Given the description of an element on the screen output the (x, y) to click on. 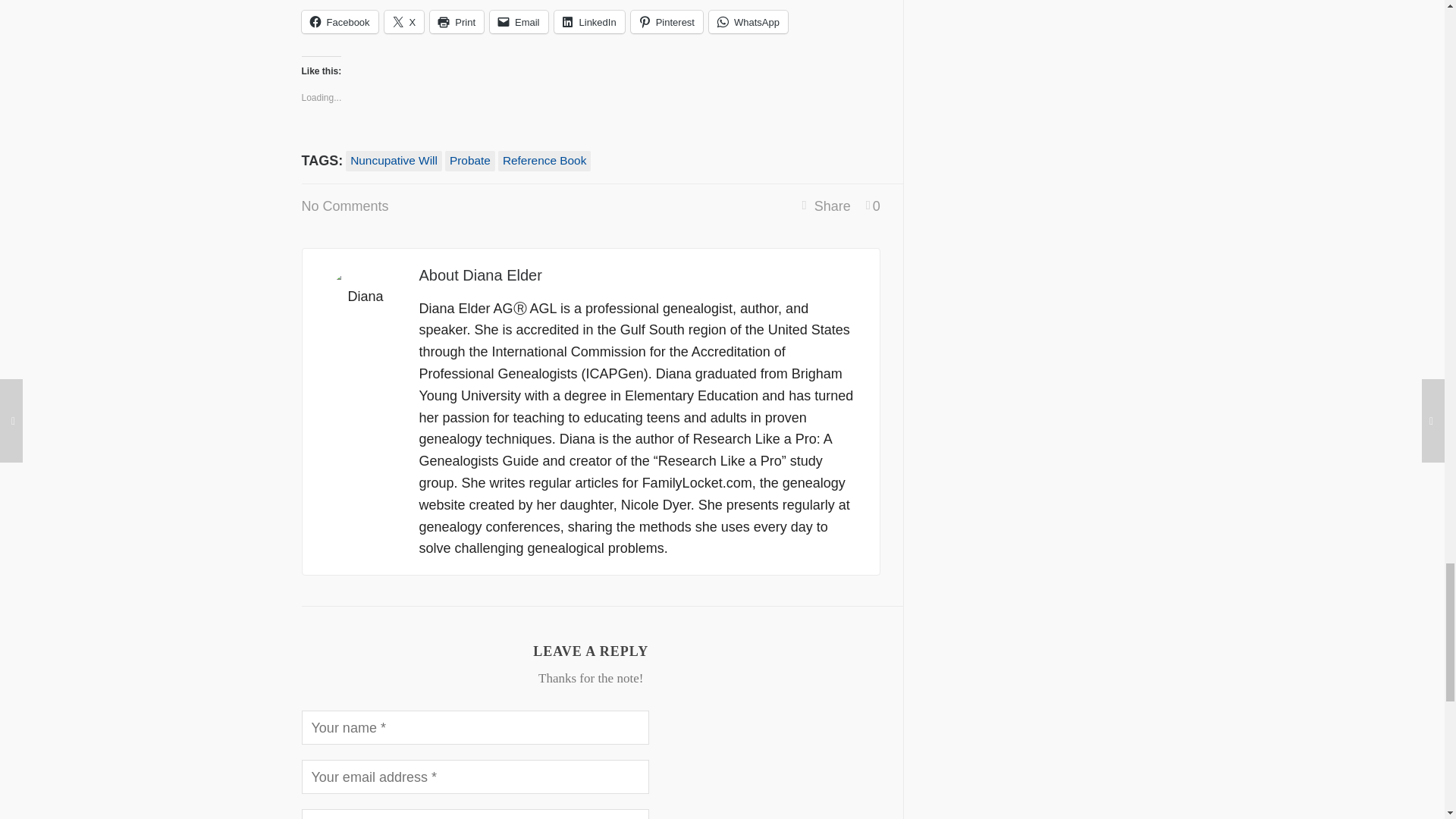
Click to share on Pinterest (666, 21)
Click to print (456, 21)
Click to share on LinkedIn (589, 21)
Click to share on WhatsApp (748, 21)
Click to share on Facebook (339, 21)
Click to share on X (404, 21)
Click to email a link to a friend (518, 21)
No Comments (344, 206)
